Given the description of an element on the screen output the (x, y) to click on. 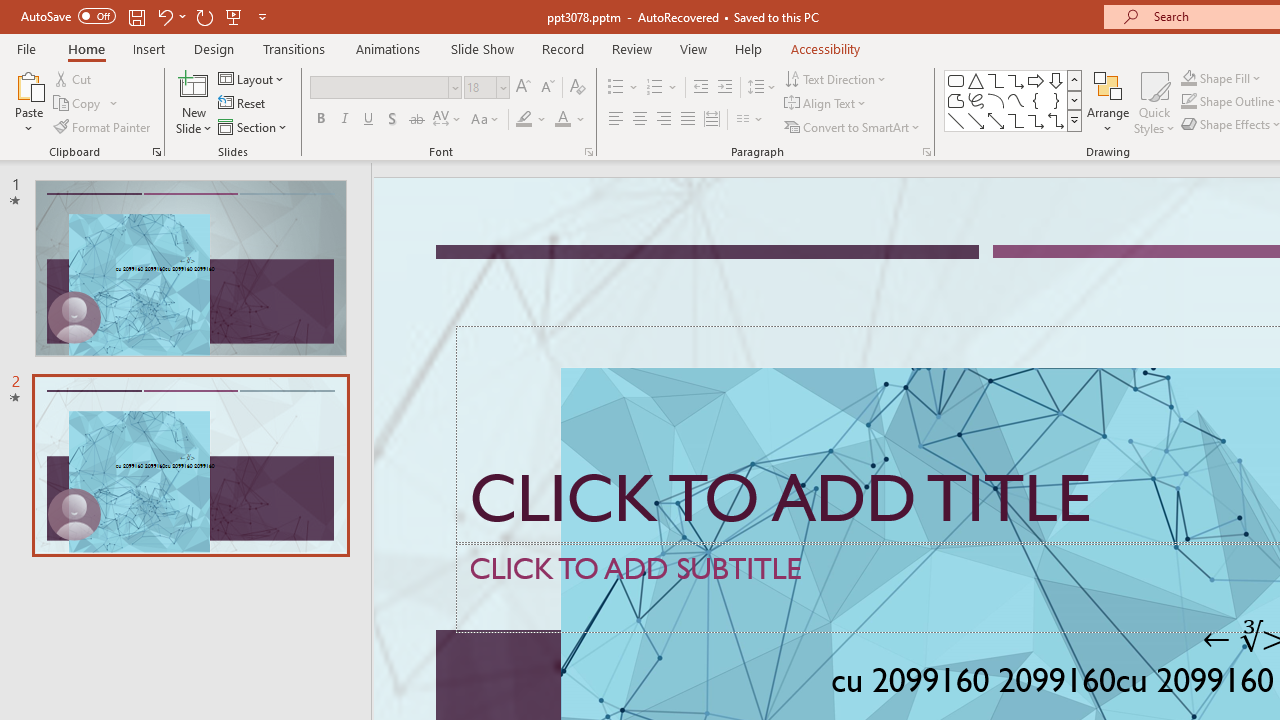
Line Arrow: Double (995, 120)
